Given the description of an element on the screen output the (x, y) to click on. 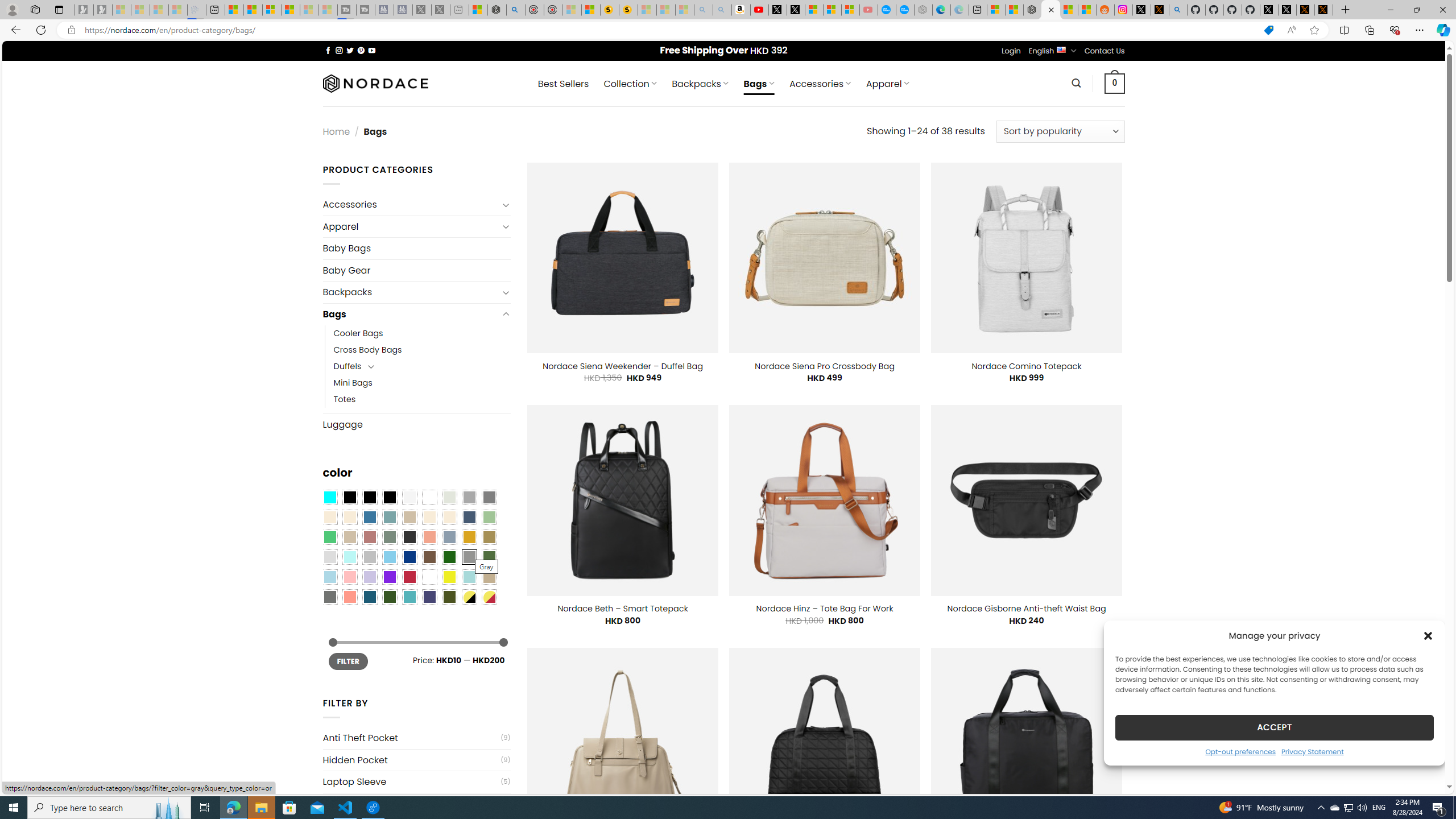
Khaki (488, 577)
Nordace Gisborne Anti-theft Waist Bag (1026, 608)
USB Charging Port (410, 803)
Cooler Bags (422, 333)
Brown (429, 557)
help.x.com | 524: A timeout occurred (1159, 9)
Pearly White (408, 497)
Peach Pink (349, 596)
Cross Body Bags (367, 349)
